Given the description of an element on the screen output the (x, y) to click on. 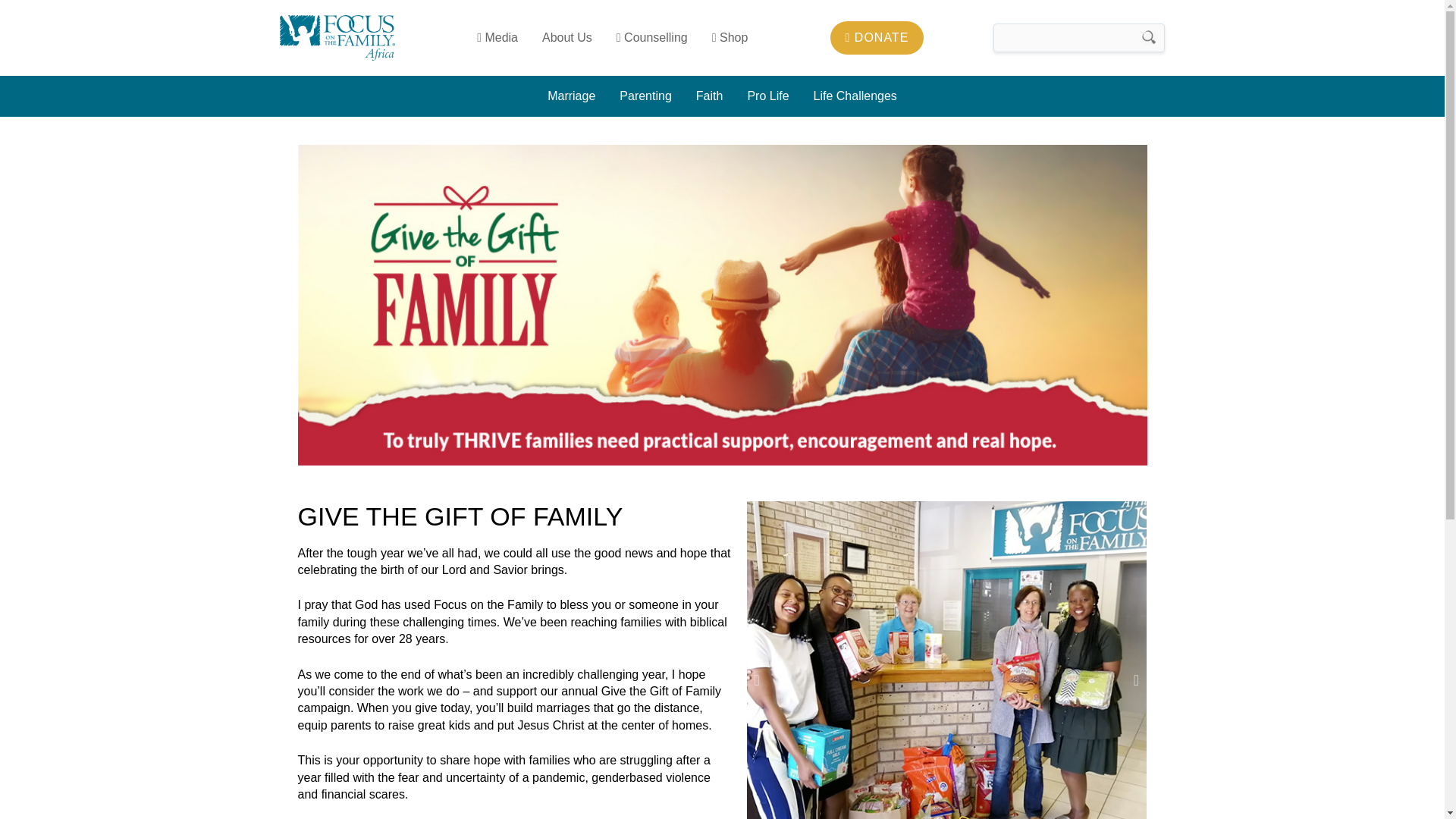
Counselling (652, 37)
Media (496, 37)
Life Challenges (855, 96)
Marriage (571, 96)
Shop (730, 37)
Parenting (645, 96)
Pro Life (767, 96)
About Us (566, 37)
Search (1149, 37)
Faith (709, 96)
DONATE (876, 37)
Search (1149, 37)
